Given the description of an element on the screen output the (x, y) to click on. 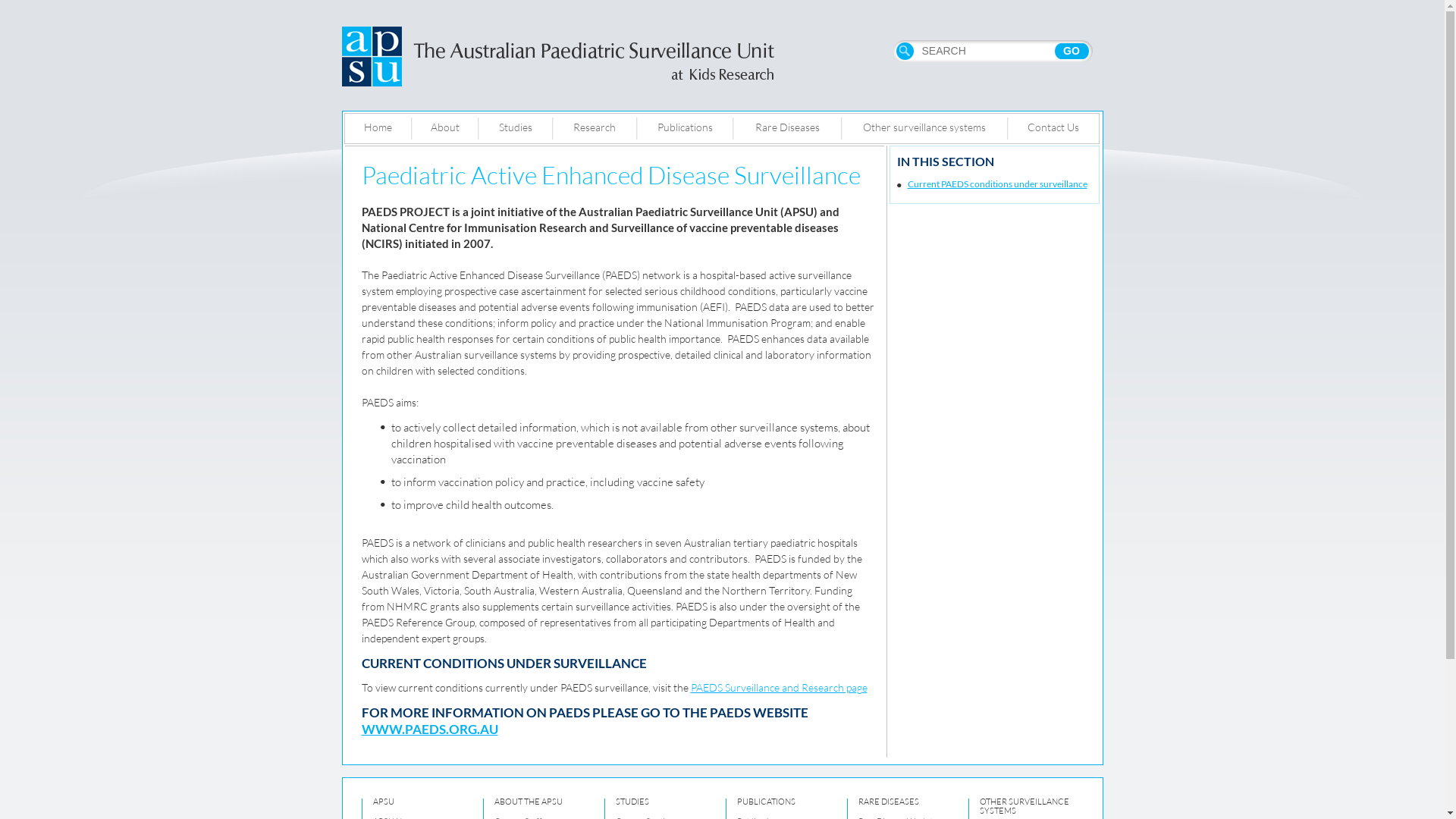
WWW.PAEDS.ORG.AU Element type: text (428, 728)
Other surveillance systems Element type: text (924, 128)
Home Element type: text (377, 128)
Studies Element type: text (514, 128)
Research Element type: text (594, 128)
About Element type: text (444, 128)
Publications Element type: text (685, 128)
Contact Us Element type: text (1052, 128)
Current PAEDS conditions under surveillance Element type: text (996, 183)
RARE DISEASES Element type: text (888, 801)
STUDIES Element type: text (632, 801)
OTHER SURVEILLANCE SYSTEMS Element type: text (1024, 805)
PUBLICATIONS Element type: text (766, 801)
ABOUT THE APSU Element type: text (528, 801)
Rare Diseases Element type: text (786, 128)
APSU Element type: text (383, 801)
PAEDS Surveillance and Research page Element type: text (778, 686)
GO Element type: text (1071, 51)
